Given the description of an element on the screen output the (x, y) to click on. 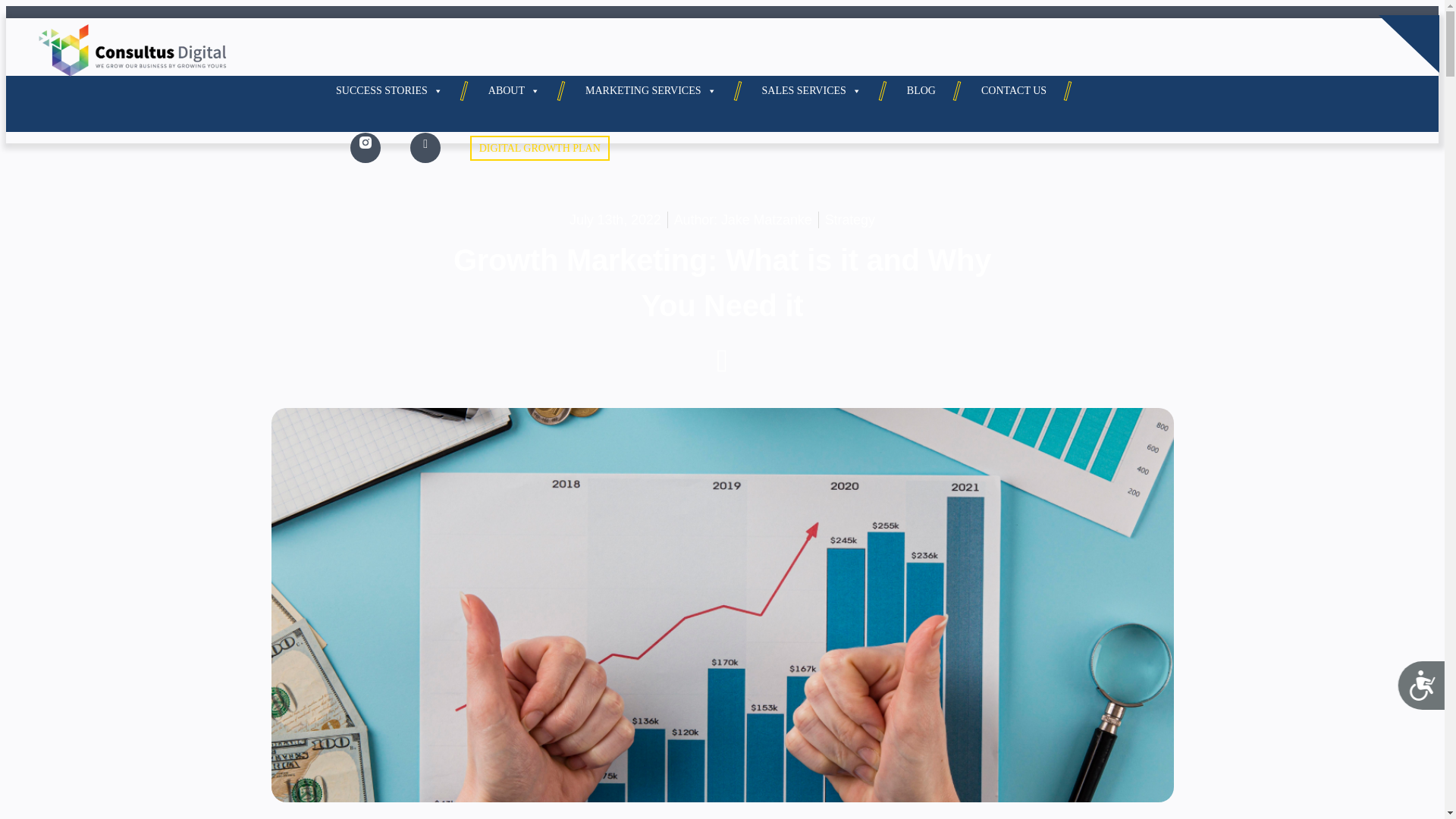
MARKETING SERVICES (650, 91)
ABOUT (513, 91)
Instagram (365, 146)
SUCCESS STORIES (389, 91)
Facebook (425, 143)
